Given the description of an element on the screen output the (x, y) to click on. 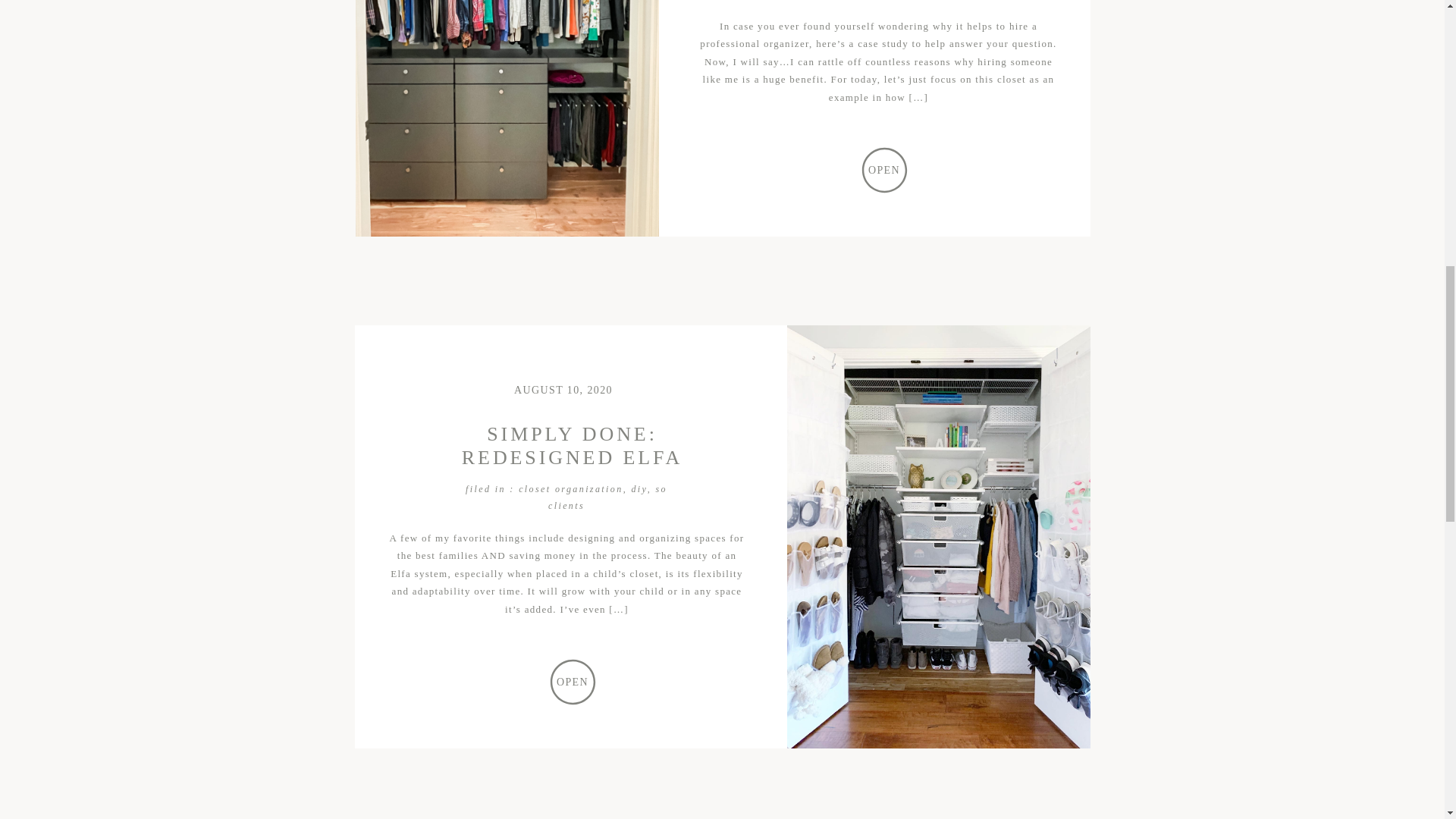
Proof That Inches Matter (885, 168)
OPEN (885, 168)
diy (638, 489)
OPEN (572, 680)
closet organization (570, 489)
Simply Done: Redesigned Elfa Closet (572, 680)
Proof That Inches Matter (506, 118)
Simply Done: Redesigned Elfa Closet (571, 681)
Proof That Inches Matter (884, 169)
